Given the description of an element on the screen output the (x, y) to click on. 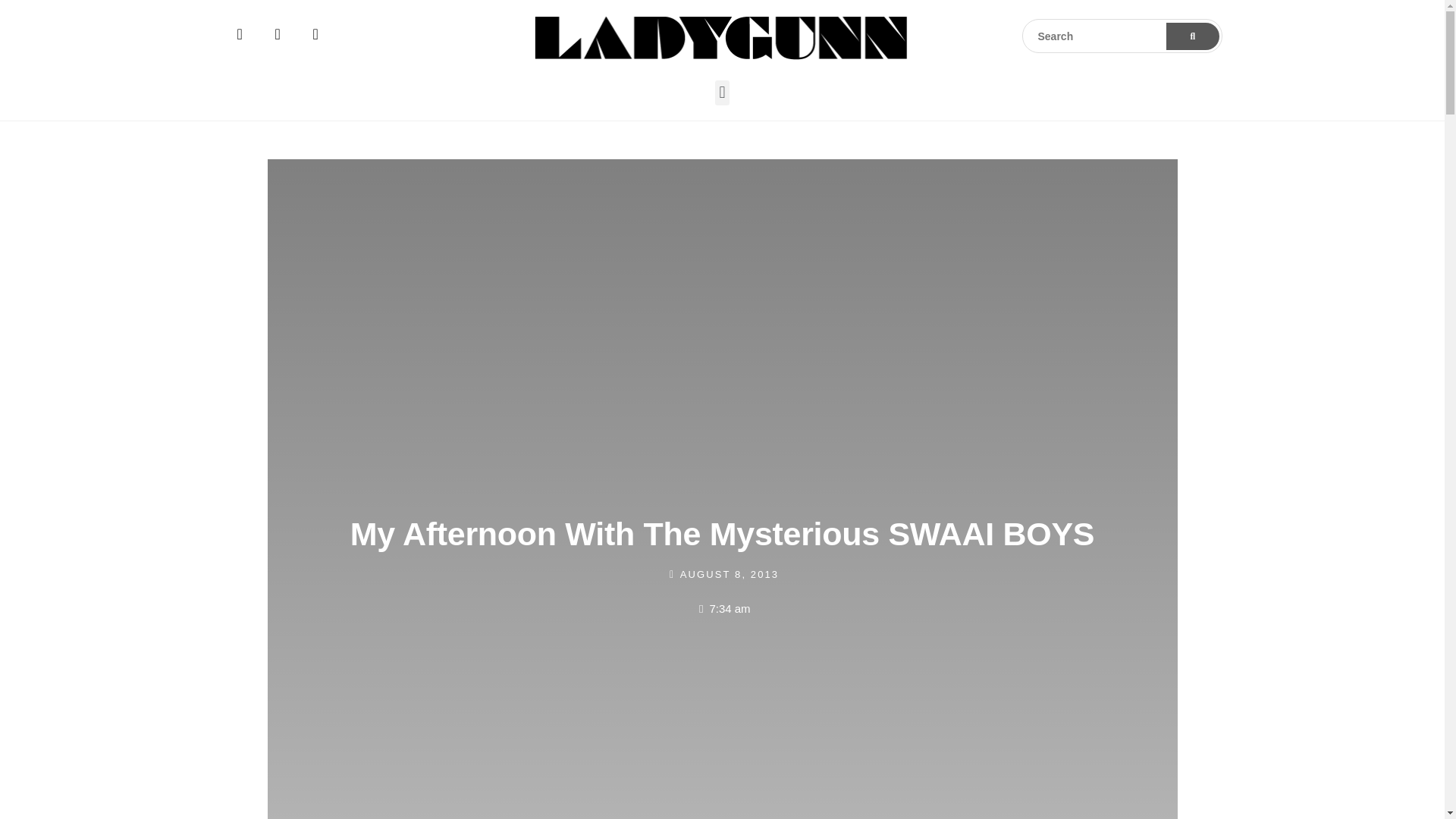
Search (1122, 35)
AUGUST 8, 2013 (721, 574)
